Given the description of an element on the screen output the (x, y) to click on. 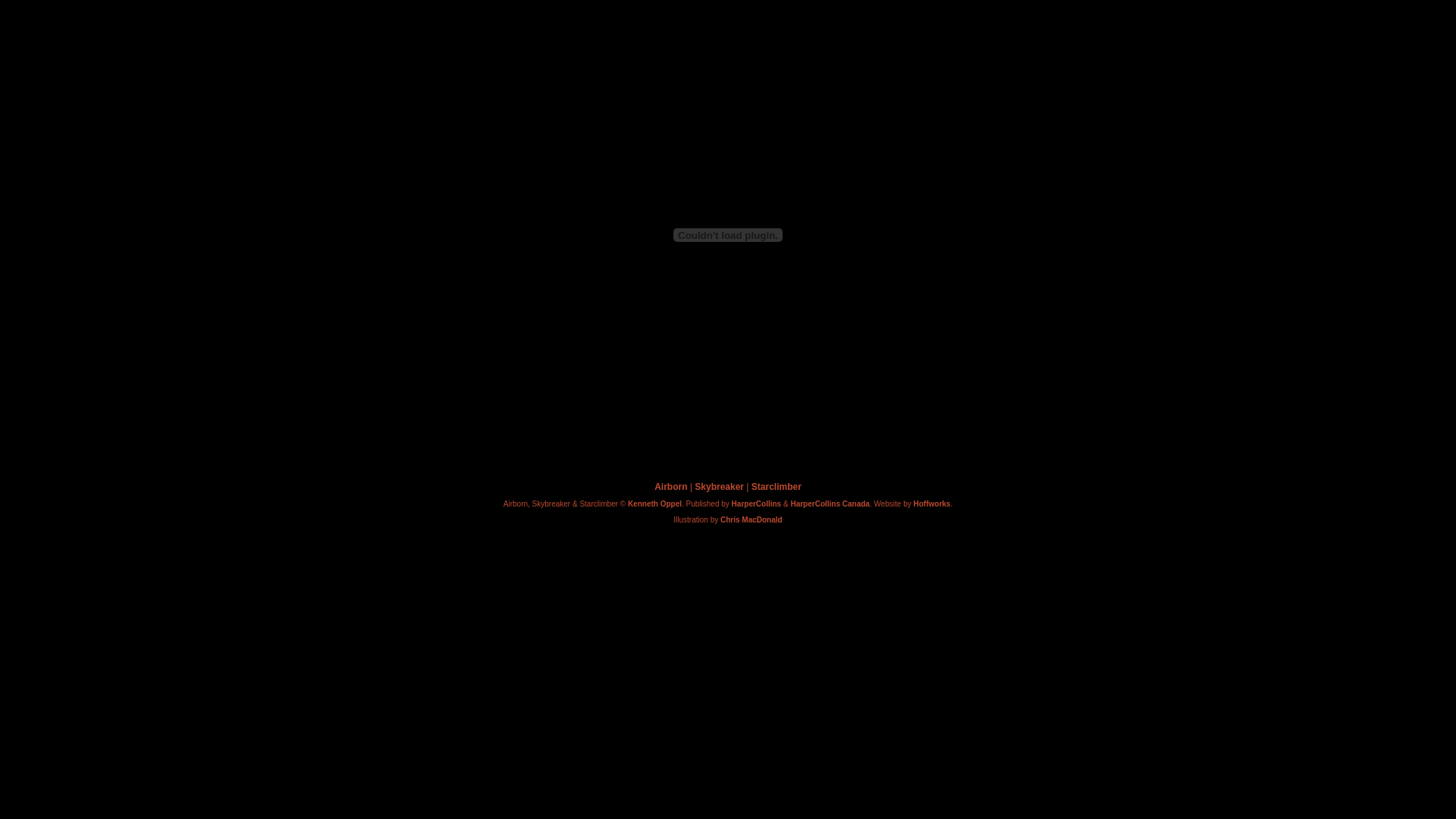
Airborn Element type: text (670, 486)
Kenneth Oppel Element type: text (654, 503)
Chris MacDonald Element type: text (751, 519)
HarperCollins Element type: text (756, 503)
HarperCollins Canada Element type: text (829, 503)
Hoffworks Element type: text (931, 503)
Starclimber Element type: text (776, 486)
Skybreaker Element type: text (718, 486)
